Given the description of an element on the screen output the (x, y) to click on. 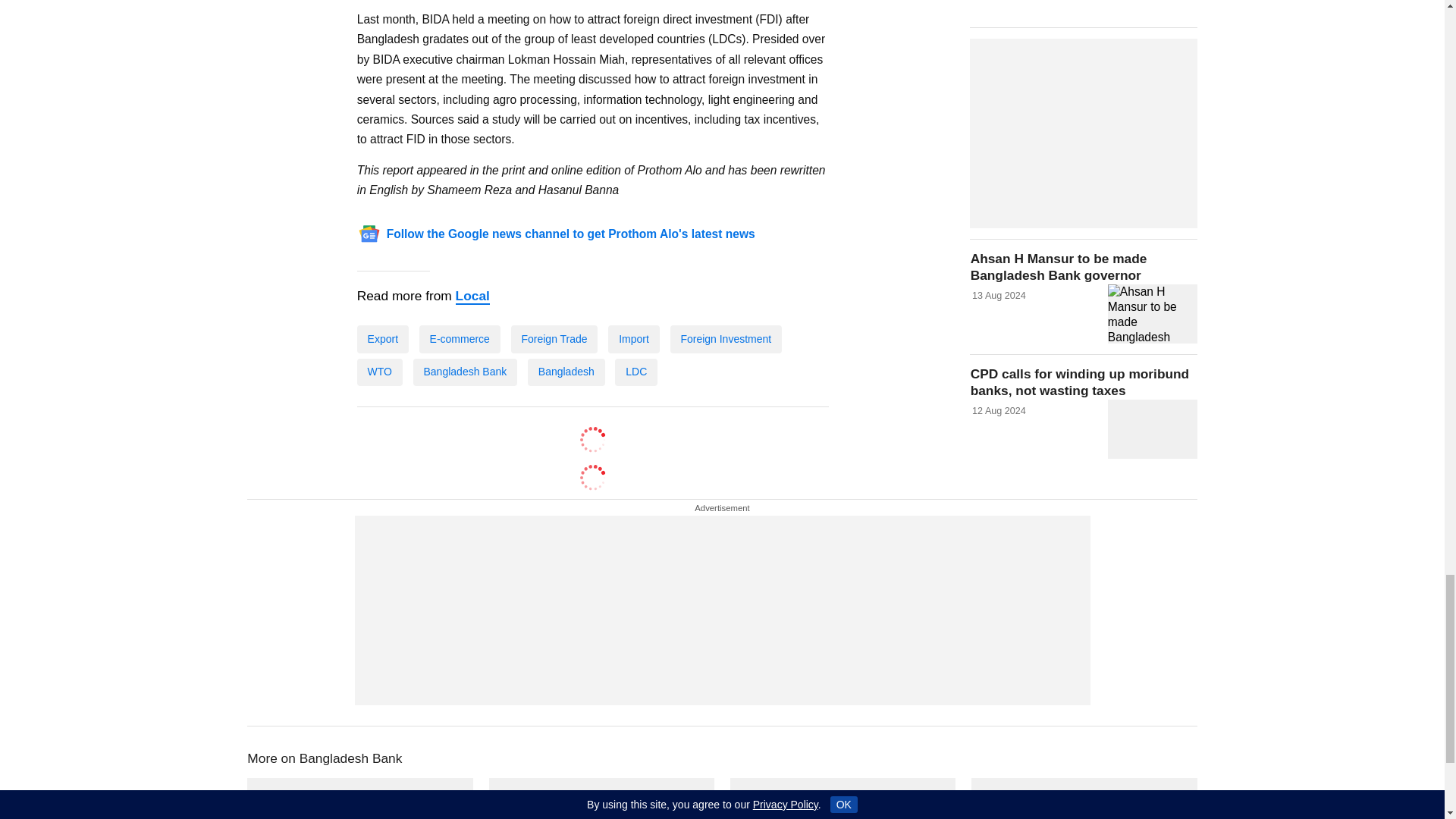
Bangladesh (566, 370)
Local (472, 296)
E-commerce (459, 338)
Import (633, 338)
Foreign Trade (554, 338)
Export (382, 338)
Foreign Investment (726, 338)
WTO (379, 370)
LDC (636, 370)
